Given the description of an element on the screen output the (x, y) to click on. 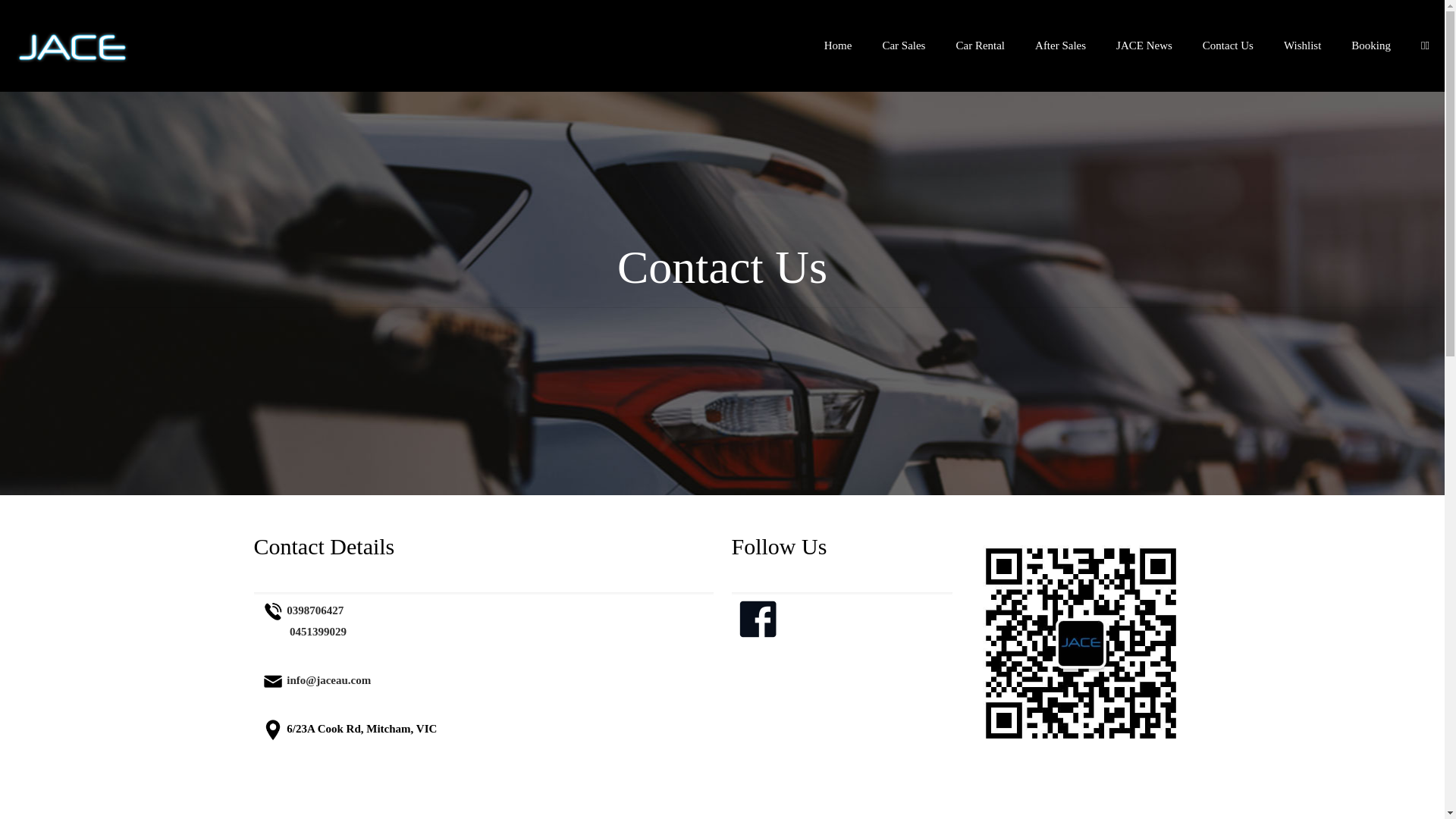
 0398706427 Element type: text (313, 610)
Car Sales Element type: text (903, 45)
  Element type: text (860, 610)
Car Rental Element type: text (979, 45)
  0451399029 Element type: text (314, 631)
After Sales Element type: text (1060, 45)
 info@jaceau.com Element type: text (326, 680)
Contact Us Element type: text (1227, 45)
Wishlist Element type: text (1302, 45)
JACE News Element type: text (1144, 45)
Melbourne Japanese Import Cars | JACE AUTO IMPORT Element type: hover (71, 45)
Home Element type: text (838, 45)
Booking Element type: text (1370, 45)
